Given the description of an element on the screen output the (x, y) to click on. 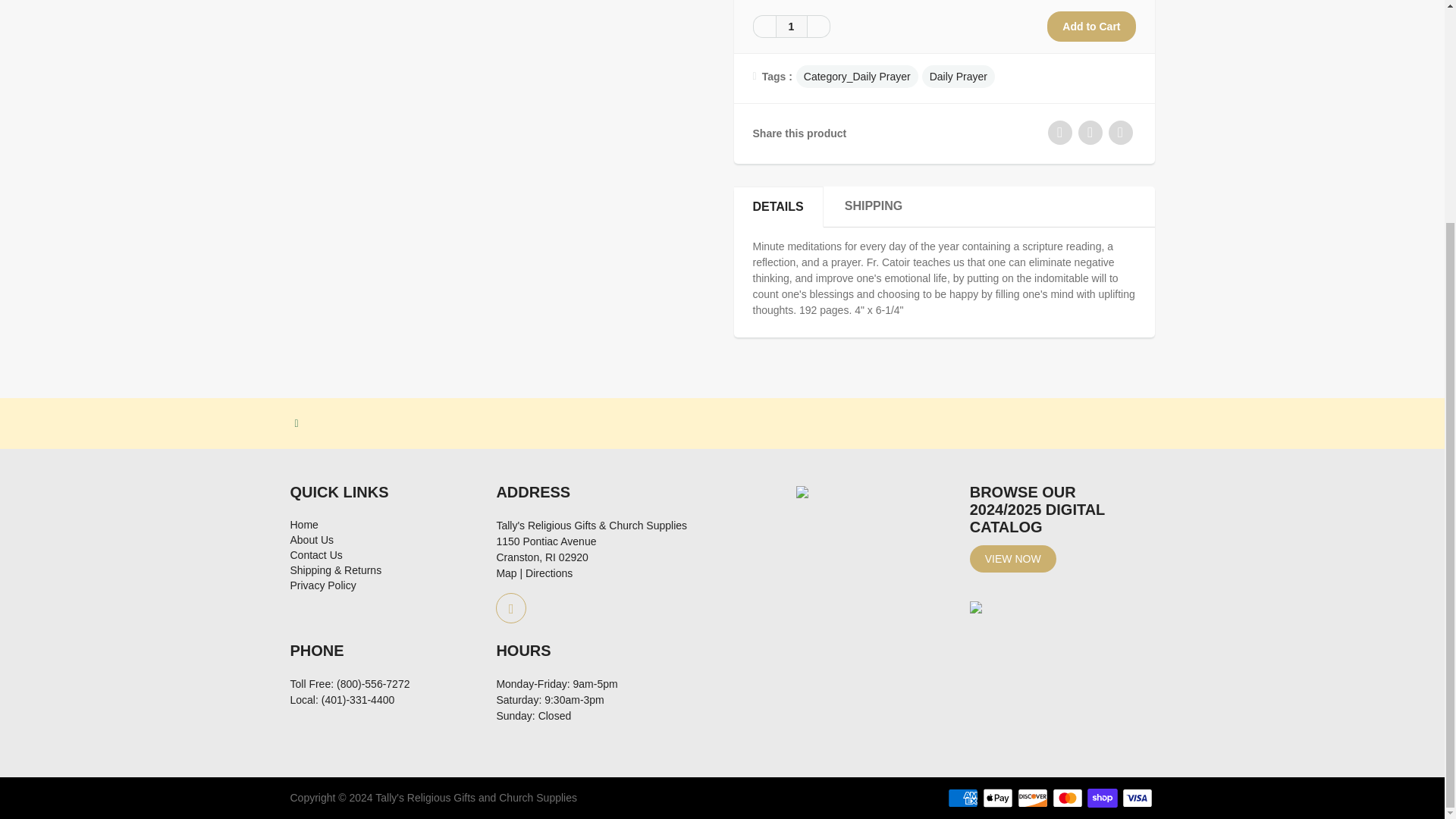
Facebook (510, 607)
Mastercard (1067, 797)
Visa (1137, 797)
Apple Pay (997, 797)
1 (790, 26)
Shop Pay (1102, 797)
Add to Cart (1090, 26)
Discover (1032, 797)
American Express (962, 797)
